Given the description of an element on the screen output the (x, y) to click on. 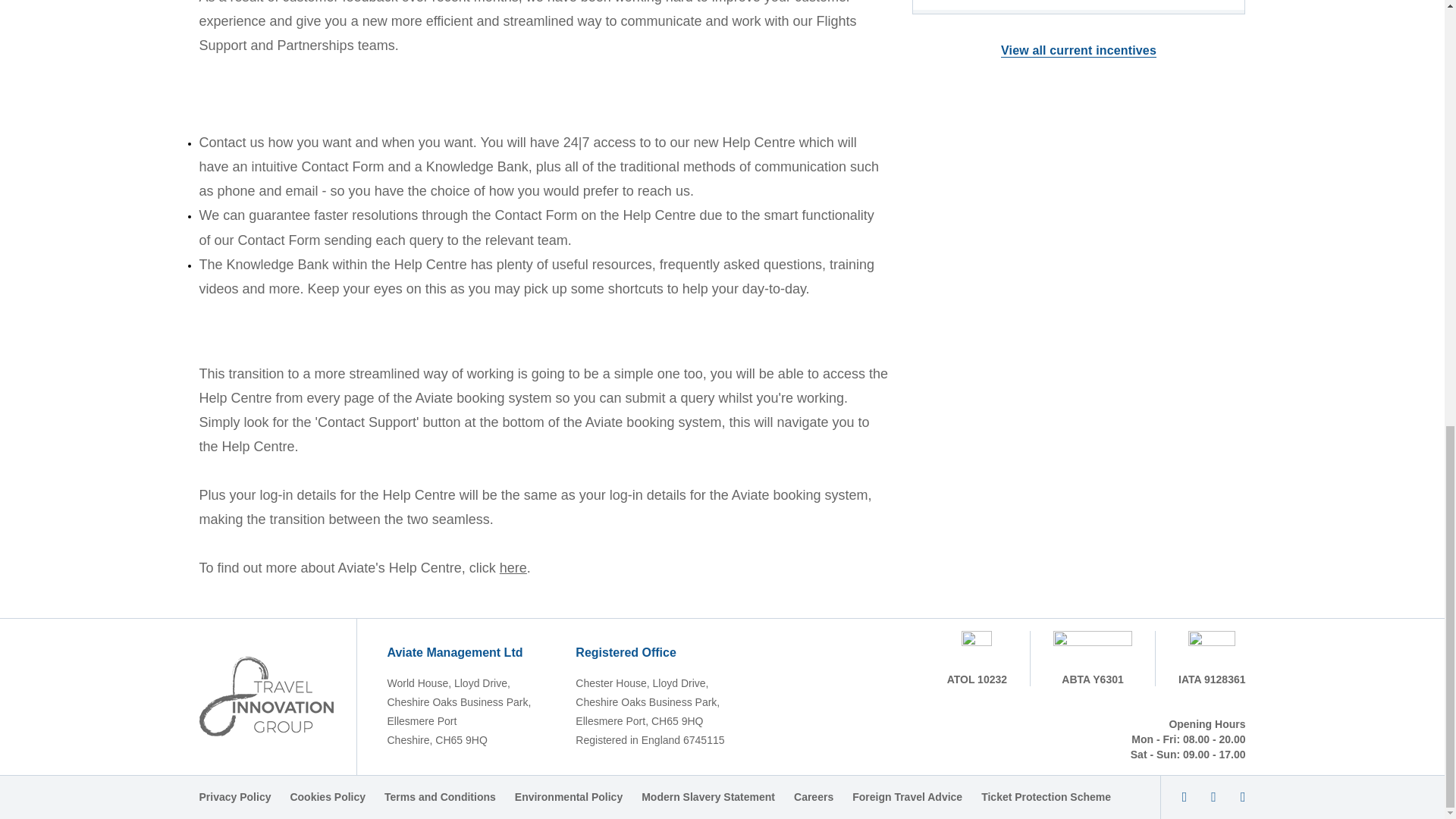
Environmental Policy (569, 797)
Modern Slavery Statement (708, 797)
here (513, 567)
Ticket Protection Scheme (1045, 797)
Terms and Conditions (440, 797)
Aviate Help Centre Guide.pdf (513, 567)
Cookies Policy (327, 797)
Foreign Travel Advice (906, 797)
Privacy Policy (234, 797)
View all current incentives (1078, 50)
Careers (812, 797)
